Given the description of an element on the screen output the (x, y) to click on. 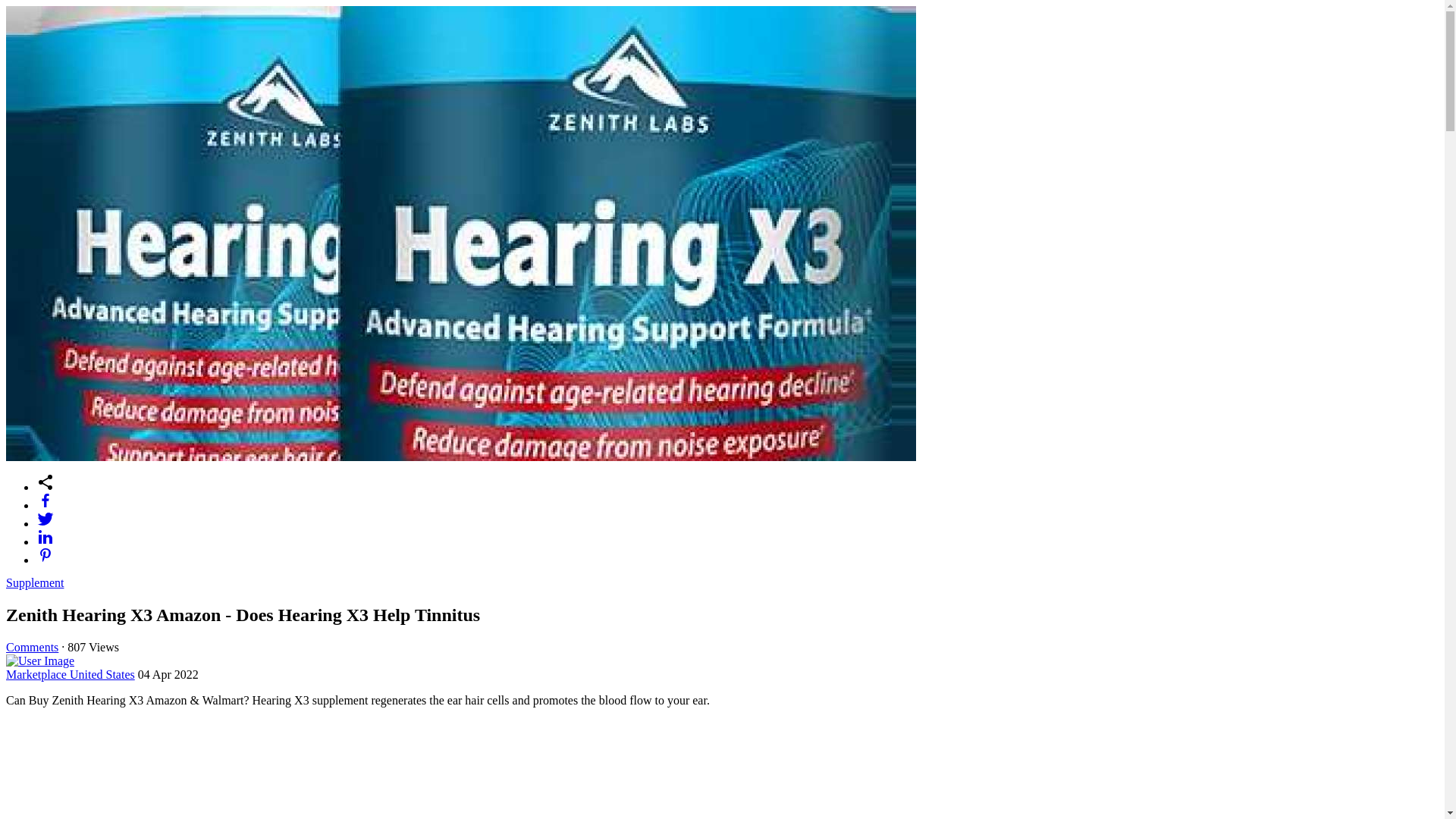
Twitter (737, 518)
Marketplace United States (70, 674)
Timeline (737, 482)
Pinterest (737, 555)
Comments (31, 646)
Linkedin (737, 536)
Facebook (737, 500)
Supplement (34, 582)
